Given the description of an element on the screen output the (x, y) to click on. 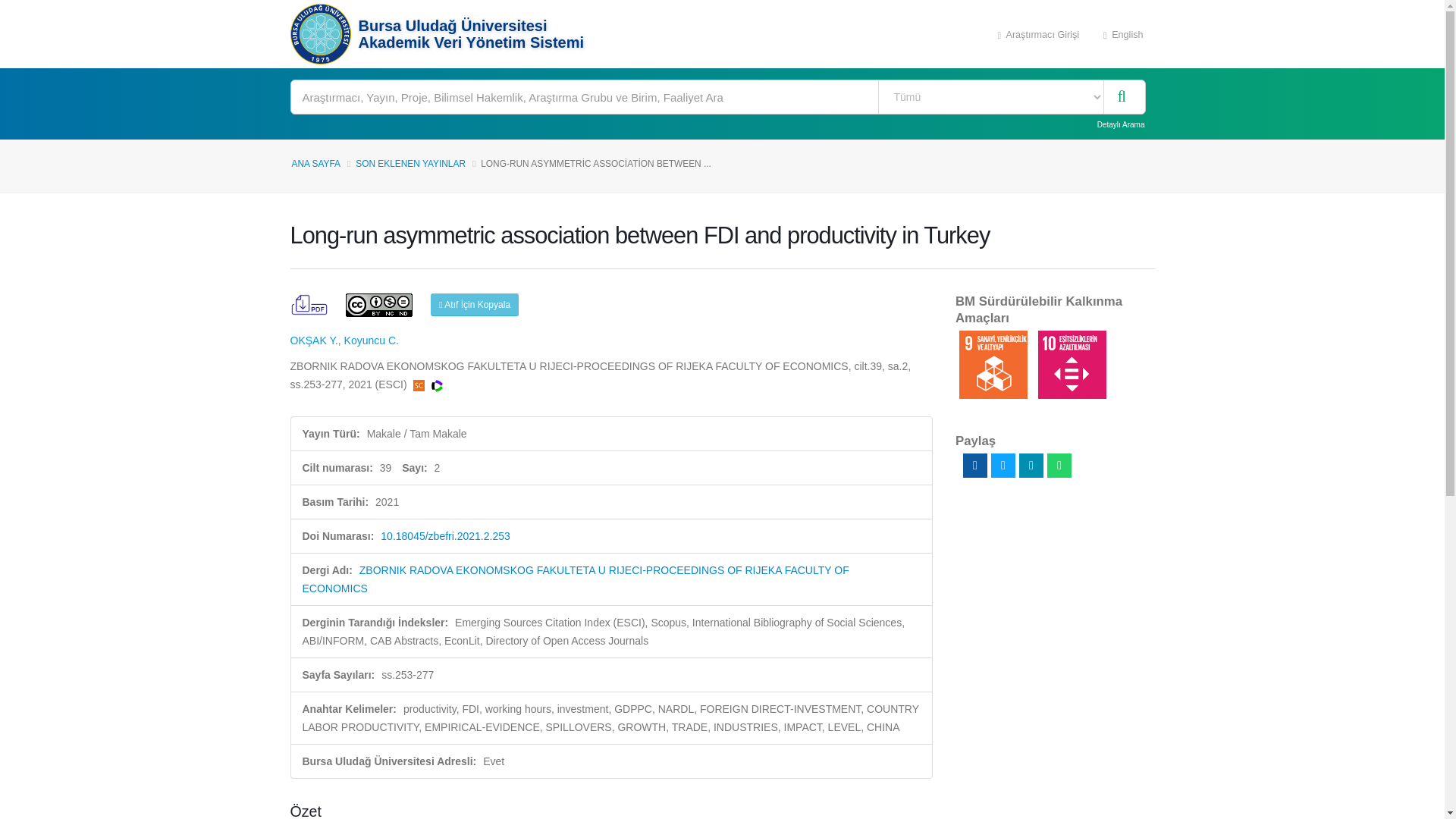
Cuneyt Koyuncu (370, 340)
ANA SAYFA (315, 163)
Koyuncu C. (370, 340)
English (1123, 33)
SON EKLENEN YAYINLAR (410, 163)
